Given the description of an element on the screen output the (x, y) to click on. 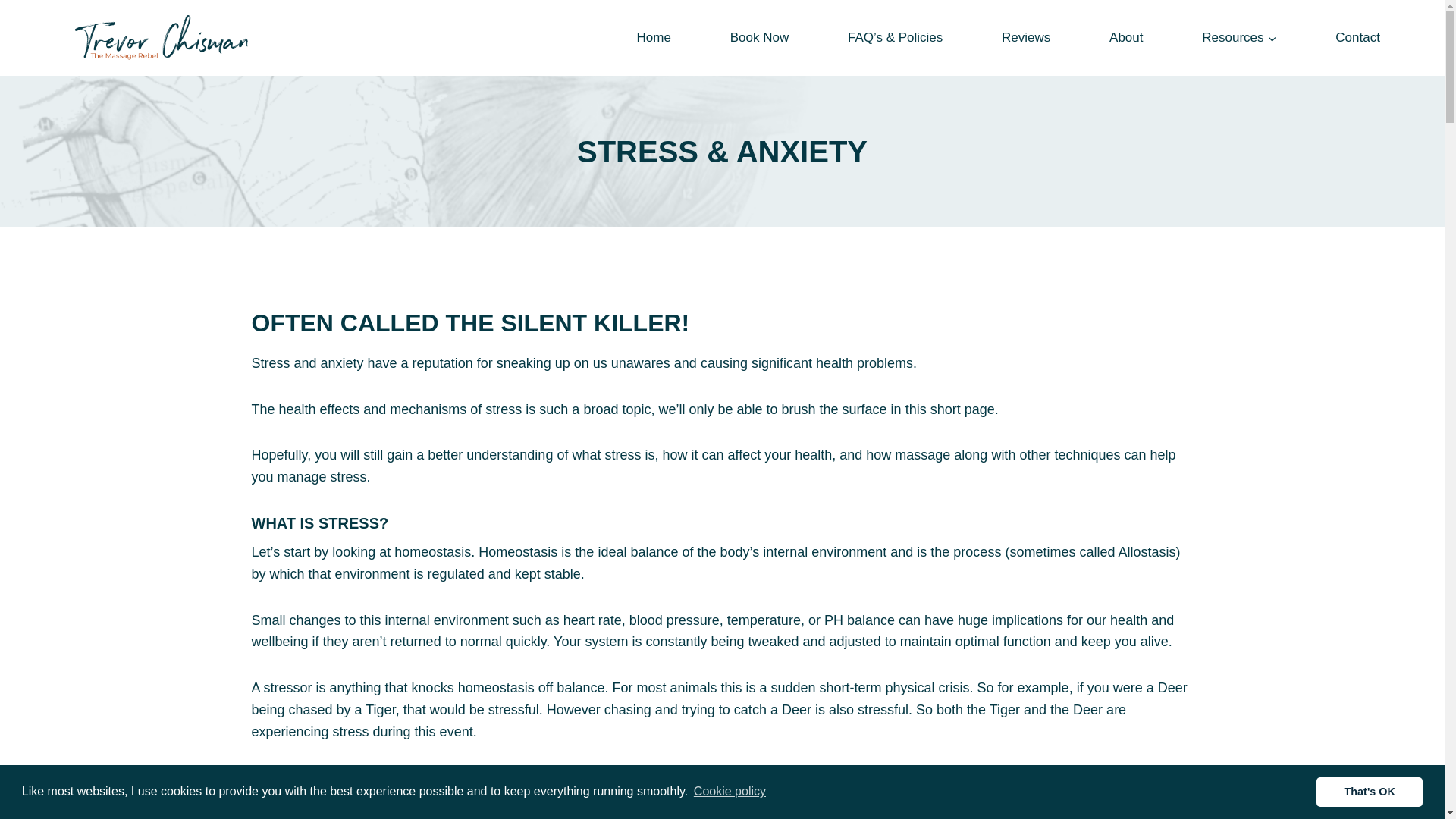
Reviews (1025, 37)
Cookie policy (729, 791)
Home (653, 37)
Book Now (759, 37)
That's OK (1369, 791)
Resources (1238, 37)
About (1126, 37)
Contact (1358, 37)
